Given the description of an element on the screen output the (x, y) to click on. 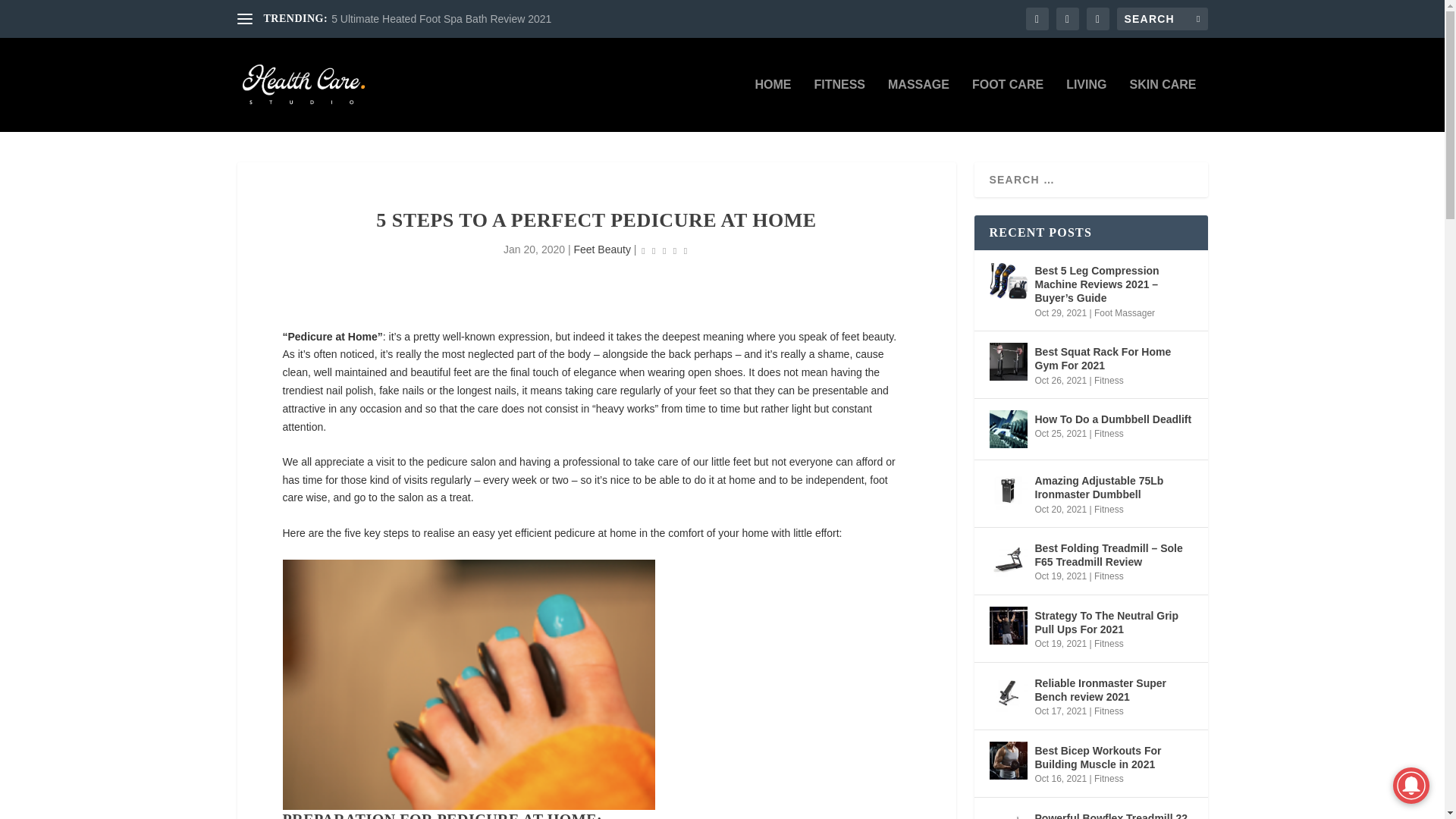
FITNESS (838, 104)
SKIN CARE (1162, 104)
Feet Beauty (601, 249)
5 Ultimate Heated Foot Spa Bath Review 2021 (441, 19)
Pedicure at home (467, 684)
MASSAGE (918, 104)
Rating: 0.00 (663, 250)
FOOT CARE (1007, 104)
Search for: (1161, 18)
